Given the description of an element on the screen output the (x, y) to click on. 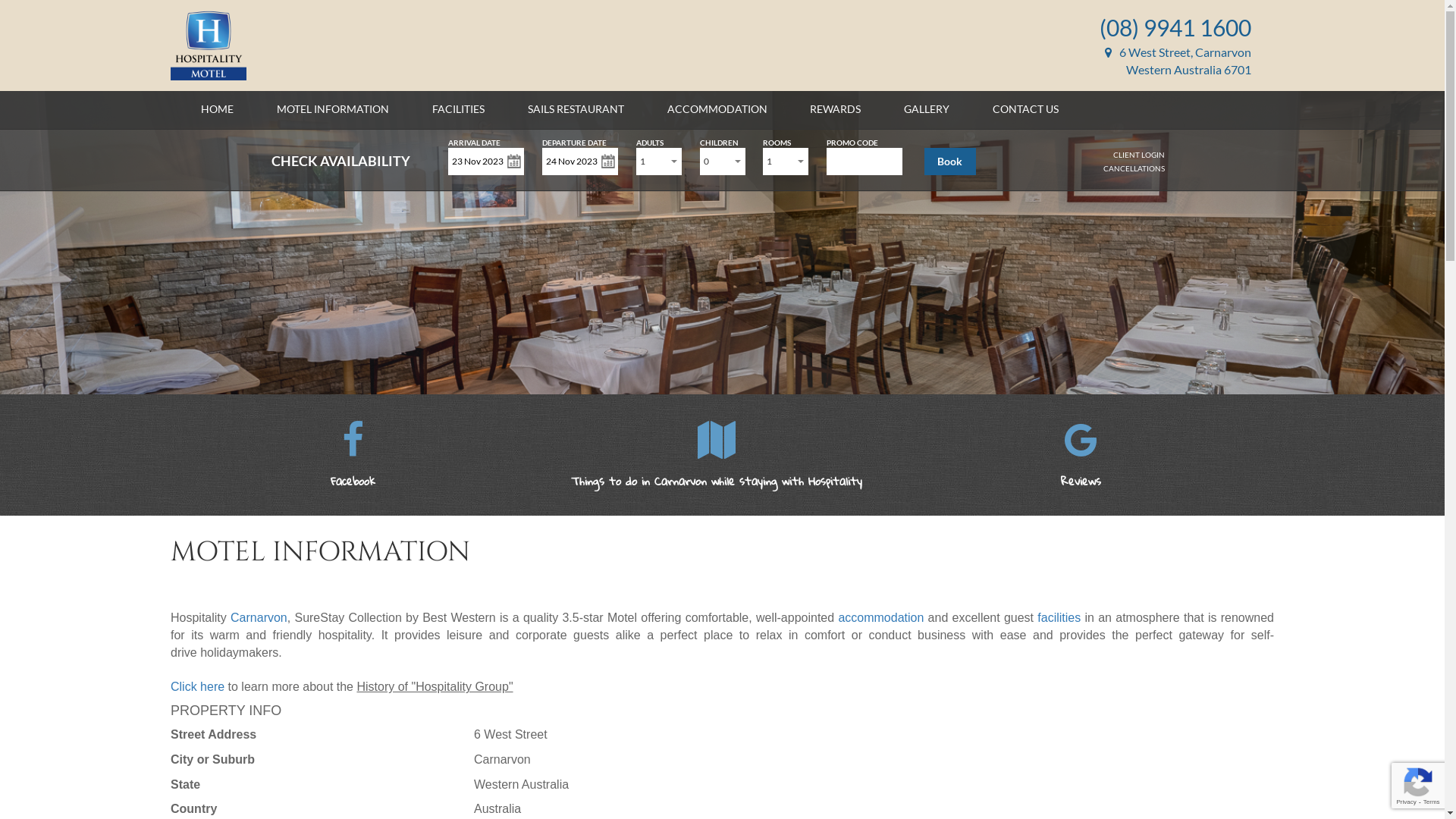
facilities Element type: text (1058, 617)
accommodation Element type: text (880, 617)
FACILITIES Element type: text (458, 109)
6 West Street, Carnarvon
Western Australia 6701 Element type: text (1177, 60)
HOME Element type: text (216, 109)
Facebook Element type: text (352, 465)
CLIENT LOGIN Element type: text (1138, 154)
SAILS RESTAURANT Element type: text (575, 109)
GALLERY Element type: text (926, 109)
CONTACT US Element type: text (1025, 109)
Things to do in Carnarvon while staying with Hospitality Element type: text (716, 465)
Reviews Element type: text (1080, 496)
(08) 9941 1600 Element type: text (1175, 26)
Carnarvon Element type: text (258, 617)
Click here Element type: text (199, 686)
Book Element type: text (949, 161)
CANCELLATIONS Element type: text (1133, 167)
ACCOMMODATION Element type: text (717, 109)
MOTEL INFORMATION Element type: text (332, 109)
REWARDS Element type: text (834, 109)
